Given the description of an element on the screen output the (x, y) to click on. 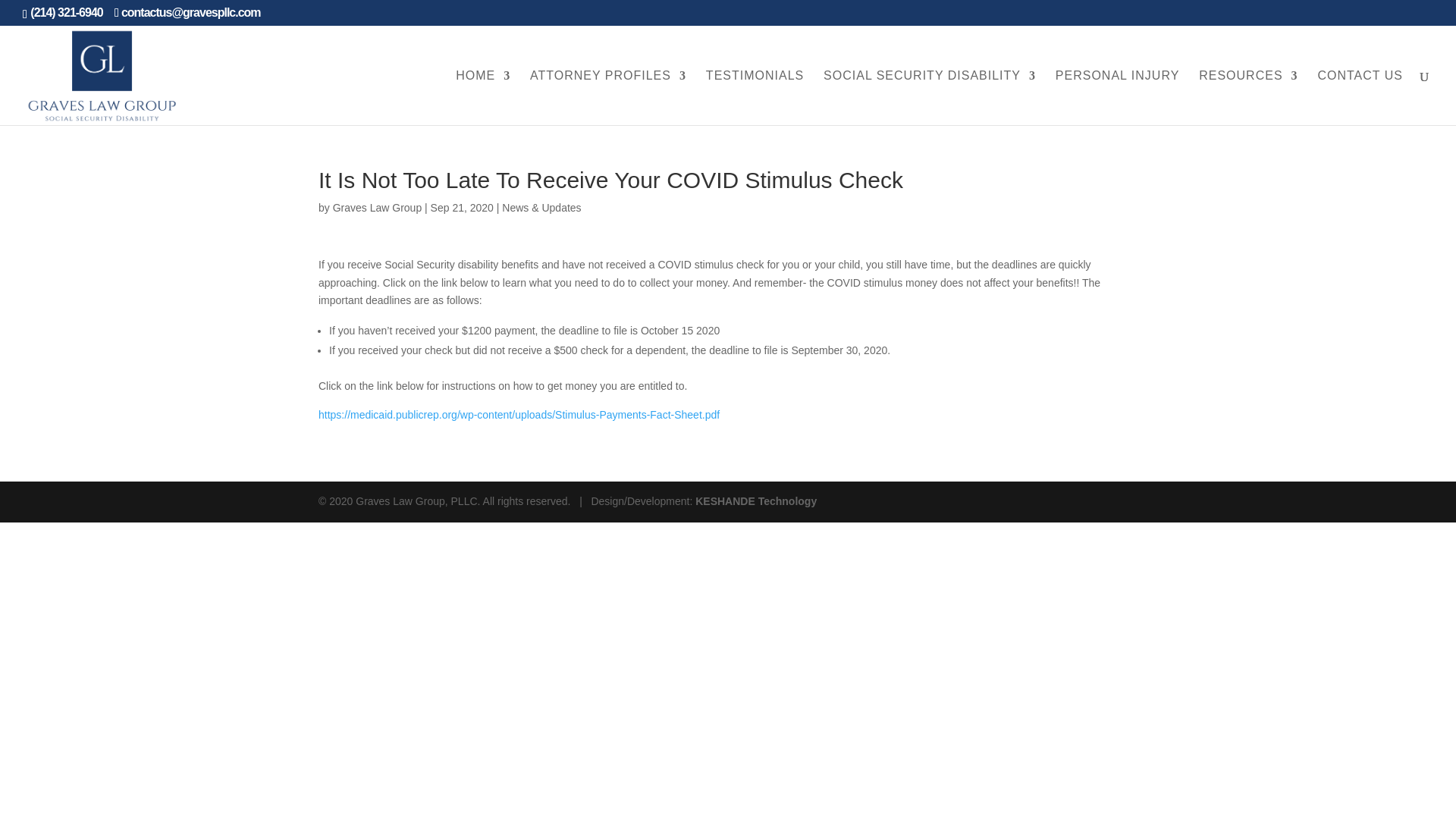
RESOURCES (1247, 97)
PERSONAL INJURY (1117, 97)
Posts by Graves Law Group (377, 207)
SOCIAL SECURITY DISABILITY (929, 97)
HOME (483, 97)
CONTACT US (1360, 97)
ATTORNEY PROFILES (607, 97)
TESTIMONIALS (754, 97)
